Given the description of an element on the screen output the (x, y) to click on. 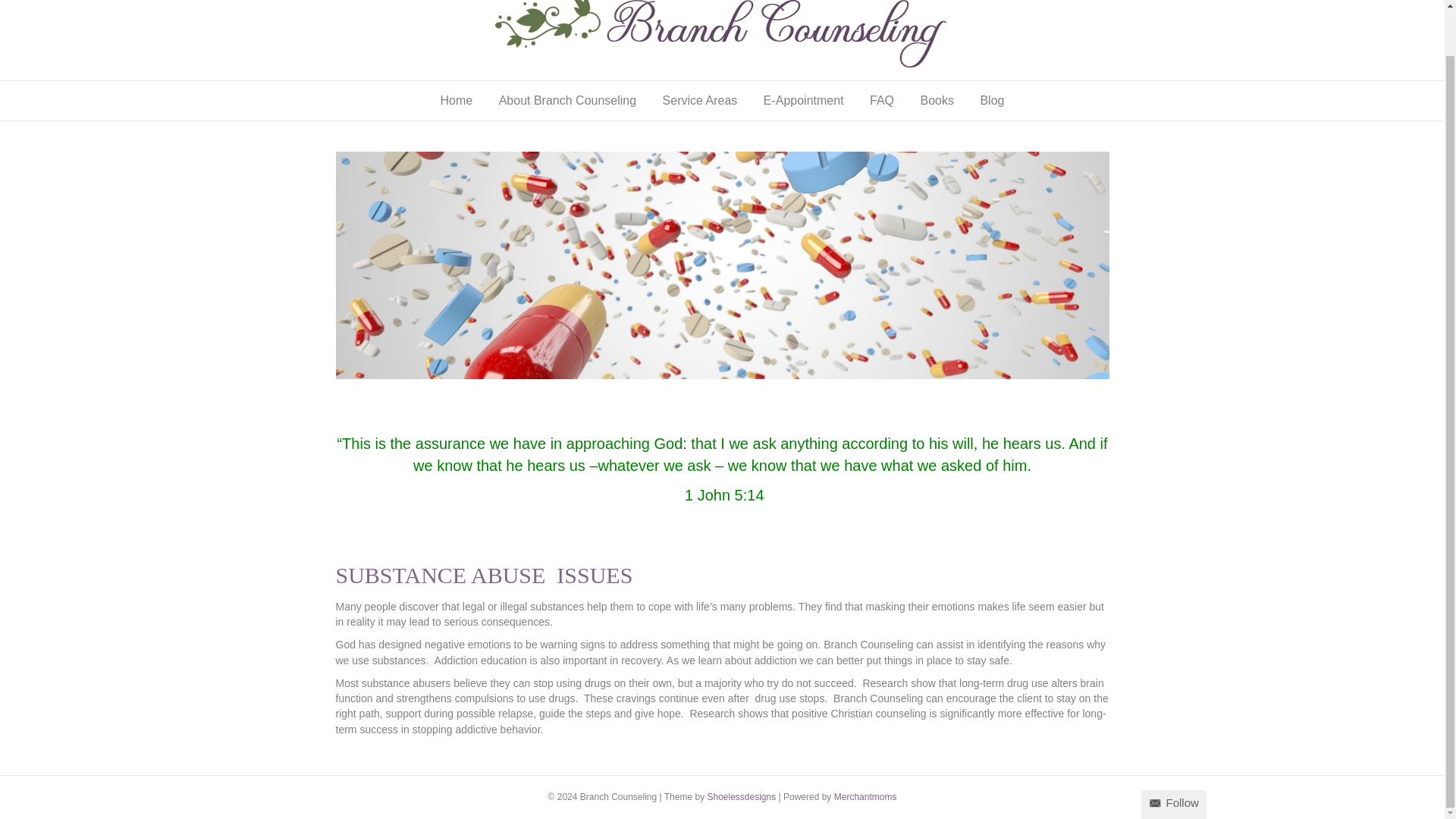
Service Areas (699, 100)
Home (456, 100)
About Branch Counseling (567, 100)
